Given the description of an element on the screen output the (x, y) to click on. 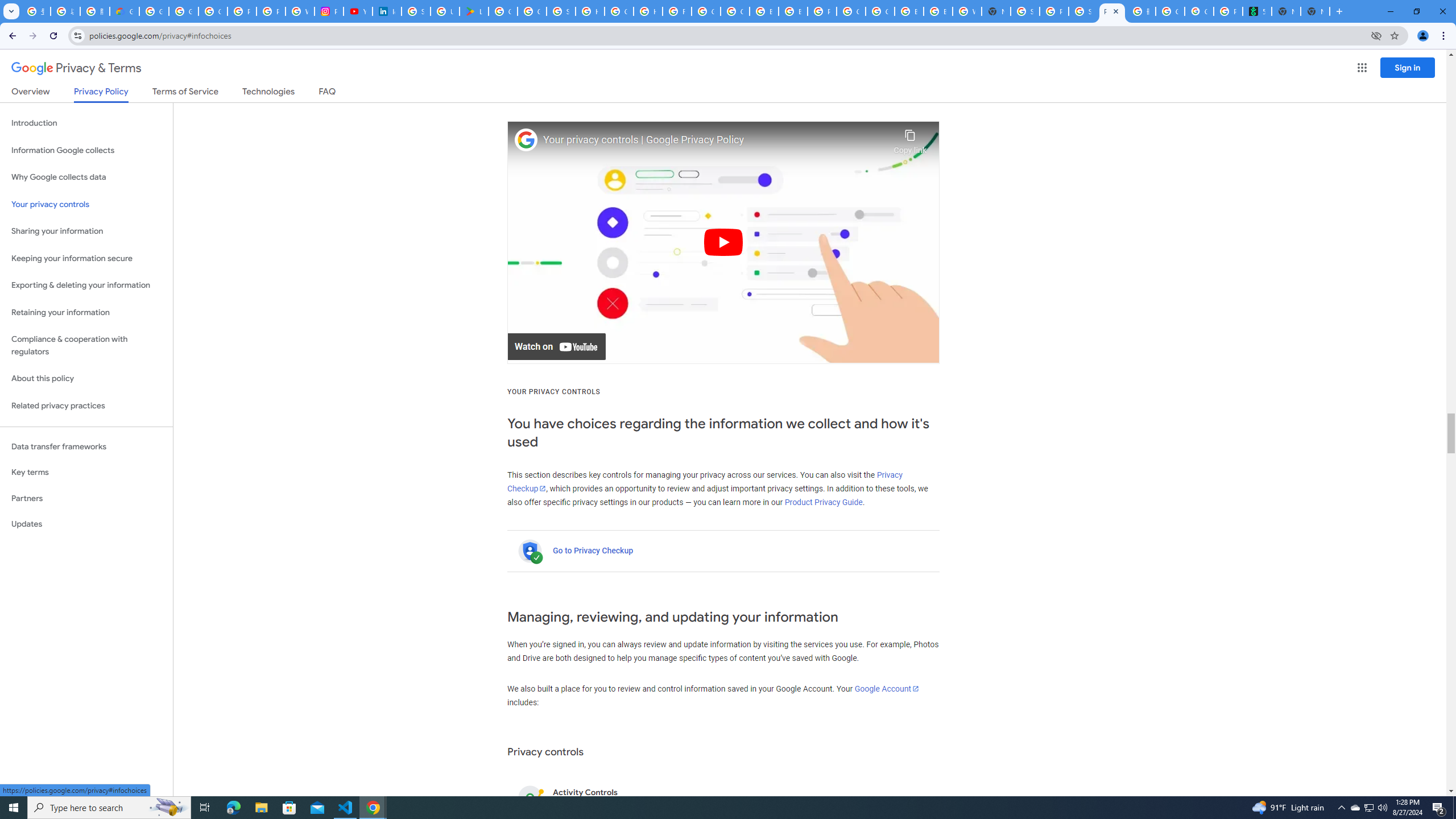
Compliance & cooperation with regulators (86, 345)
Privacy Checkup (704, 481)
New Tab (1315, 11)
Photo image of Google (526, 139)
Your privacy controls (86, 204)
